Given the description of an element on the screen output the (x, y) to click on. 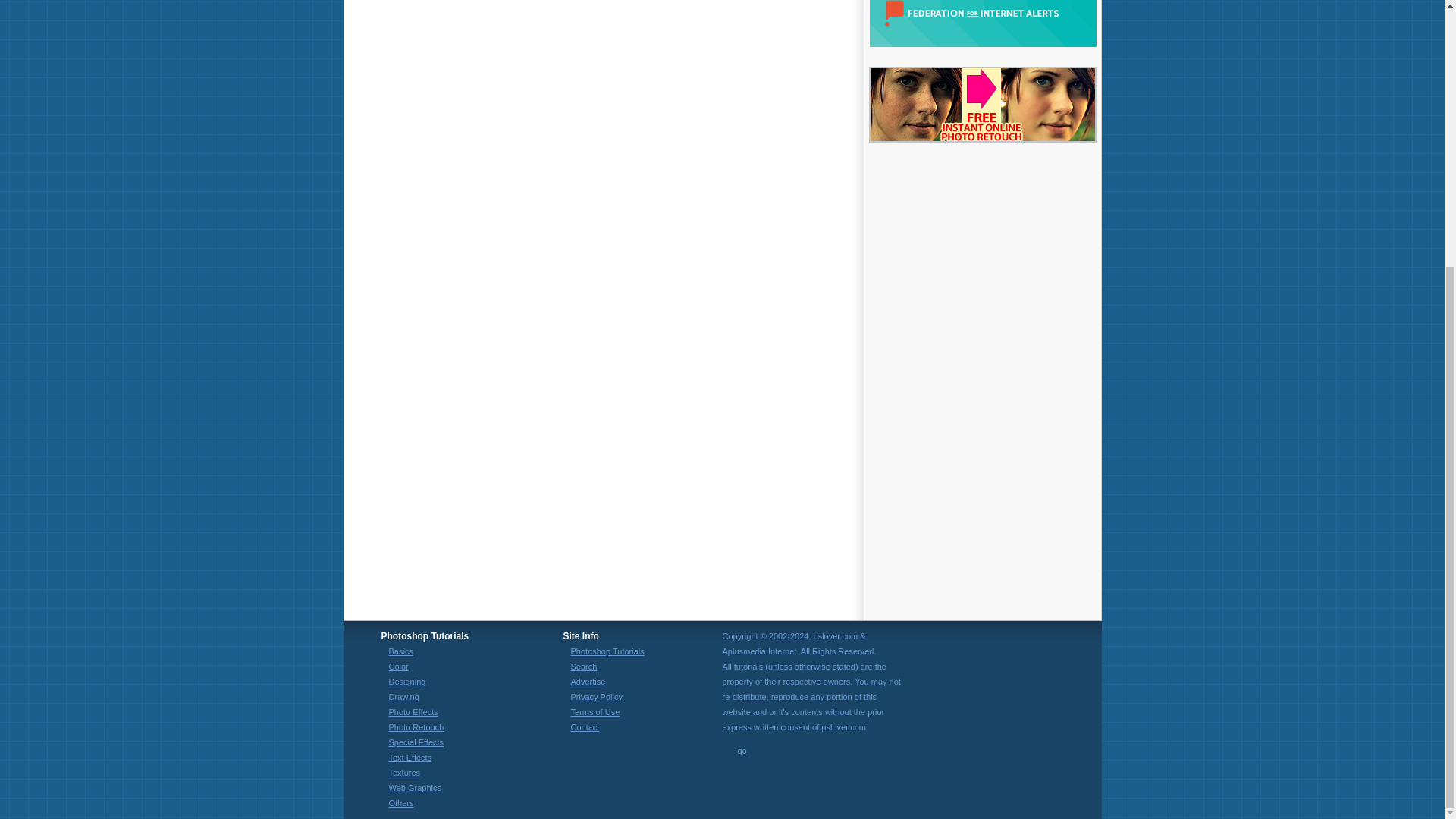
Photoshop Tutorials (606, 651)
Basics (400, 651)
Drawing (403, 696)
Photo Retouch (416, 727)
Web Graphics (414, 787)
Search (583, 665)
Text Effects (409, 757)
Special Effects (416, 741)
Others (400, 802)
Advertise (587, 681)
Color (397, 665)
Photo Effects (413, 711)
Textures (404, 772)
Designing (406, 681)
